Given the description of an element on the screen output the (x, y) to click on. 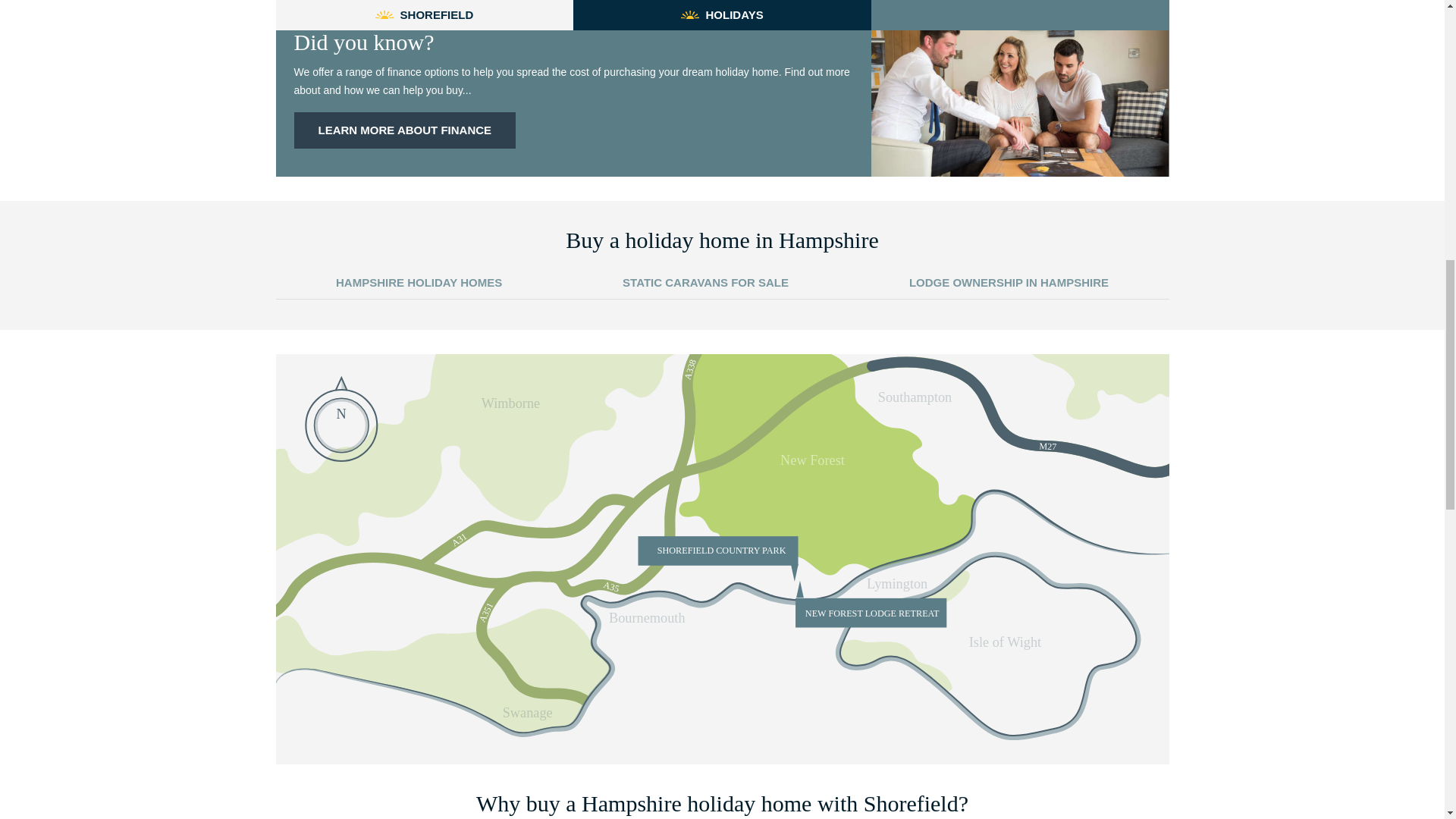
Holiday-home-ownership-couple-starting-journey (1019, 92)
View: Lodge Ownership In Hampshire (1008, 283)
View: Hampshire Holiday Homes (419, 283)
View: Static Caravans For Sale (706, 283)
Learn More About Finance: Did You Know? (405, 130)
